Given the description of an element on the screen output the (x, y) to click on. 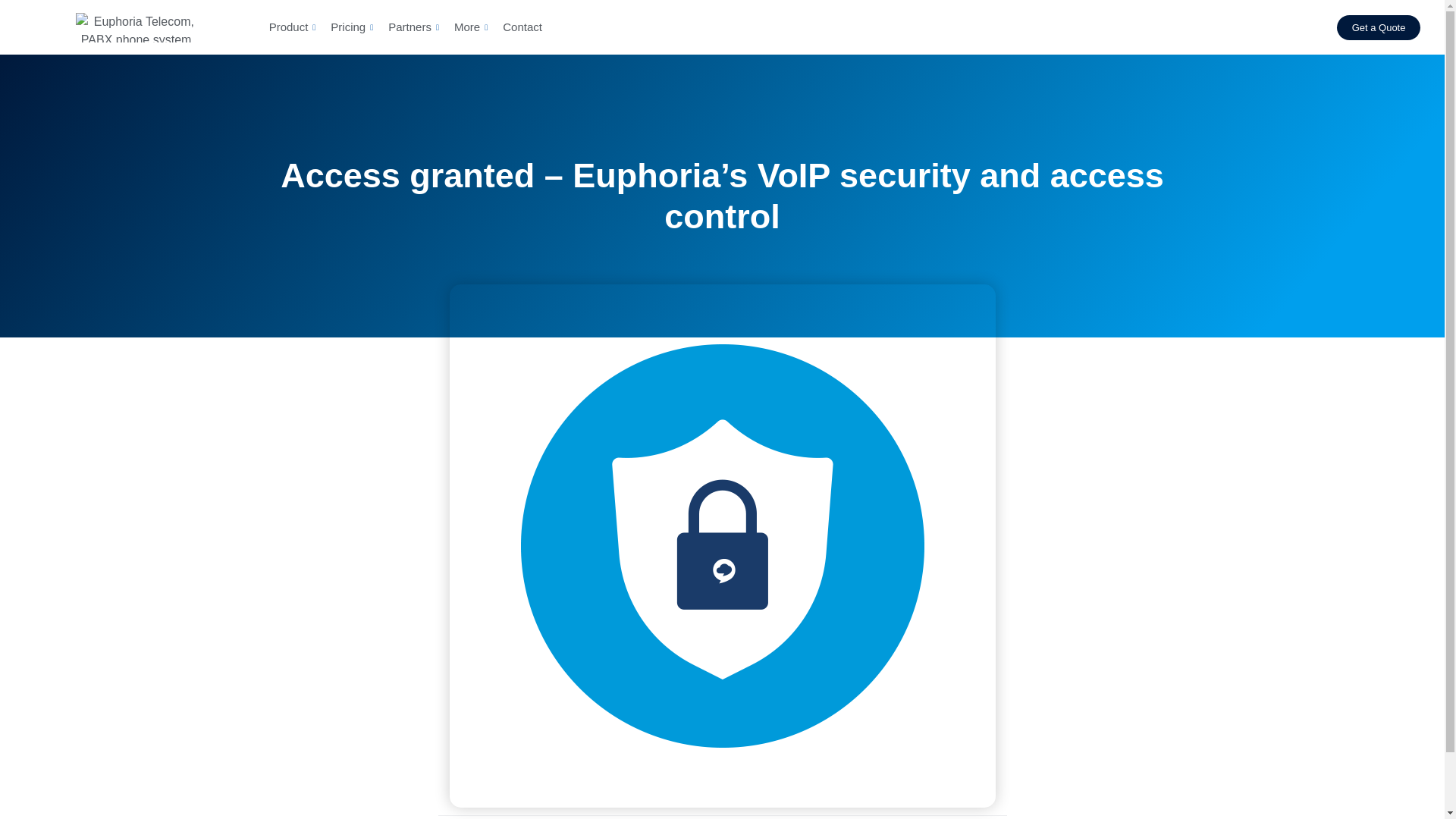
Contact (520, 27)
Get a Quote (1378, 27)
Pricing (351, 27)
Product (292, 27)
Partners (413, 27)
